Given the description of an element on the screen output the (x, y) to click on. 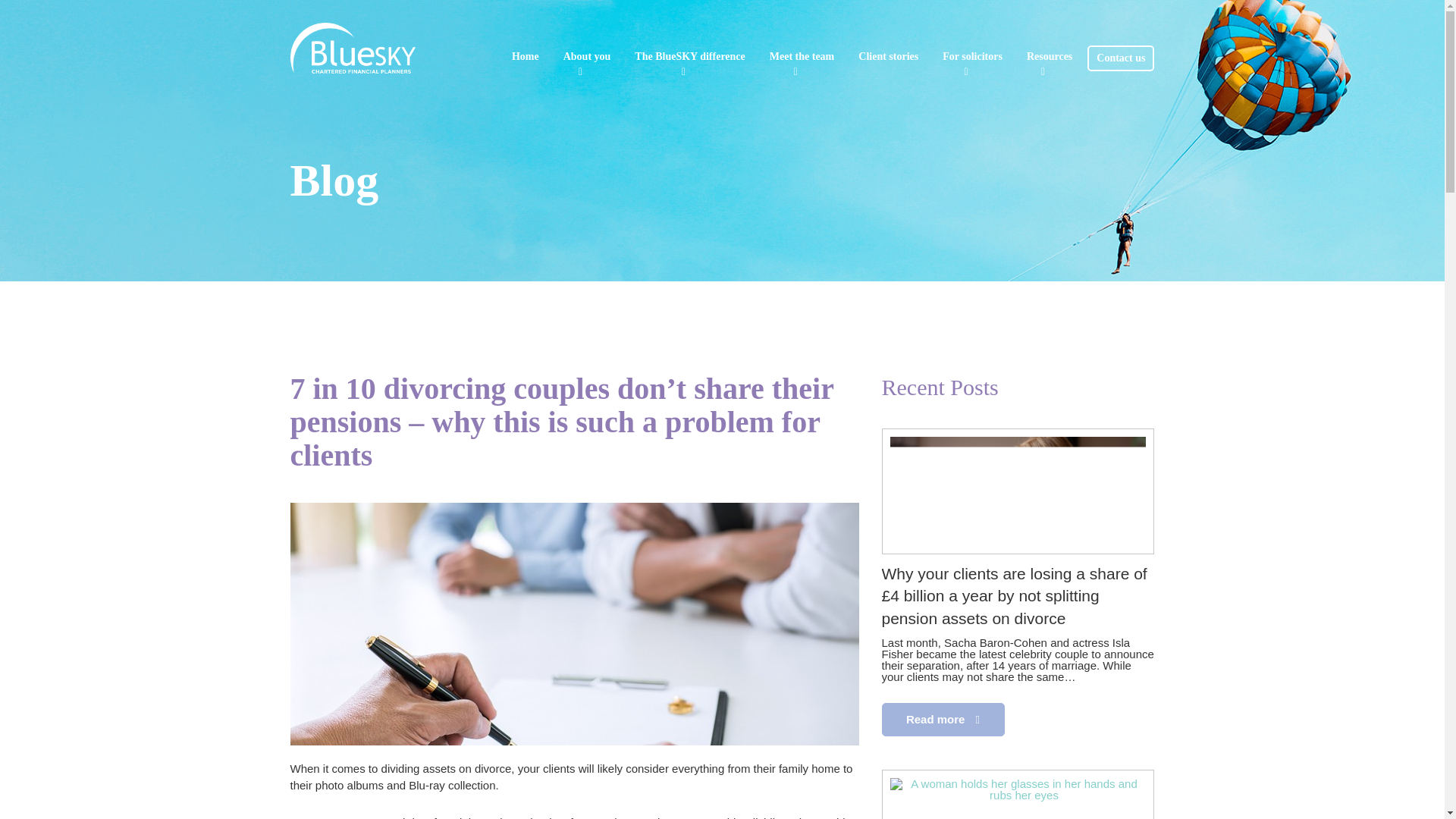
Client stories (888, 56)
The BlueSKY difference (689, 56)
About you (587, 56)
Meet the team (802, 56)
Resources (1048, 56)
Contact us (1121, 57)
Home (525, 56)
For solicitors (972, 56)
